Given the description of an element on the screen output the (x, y) to click on. 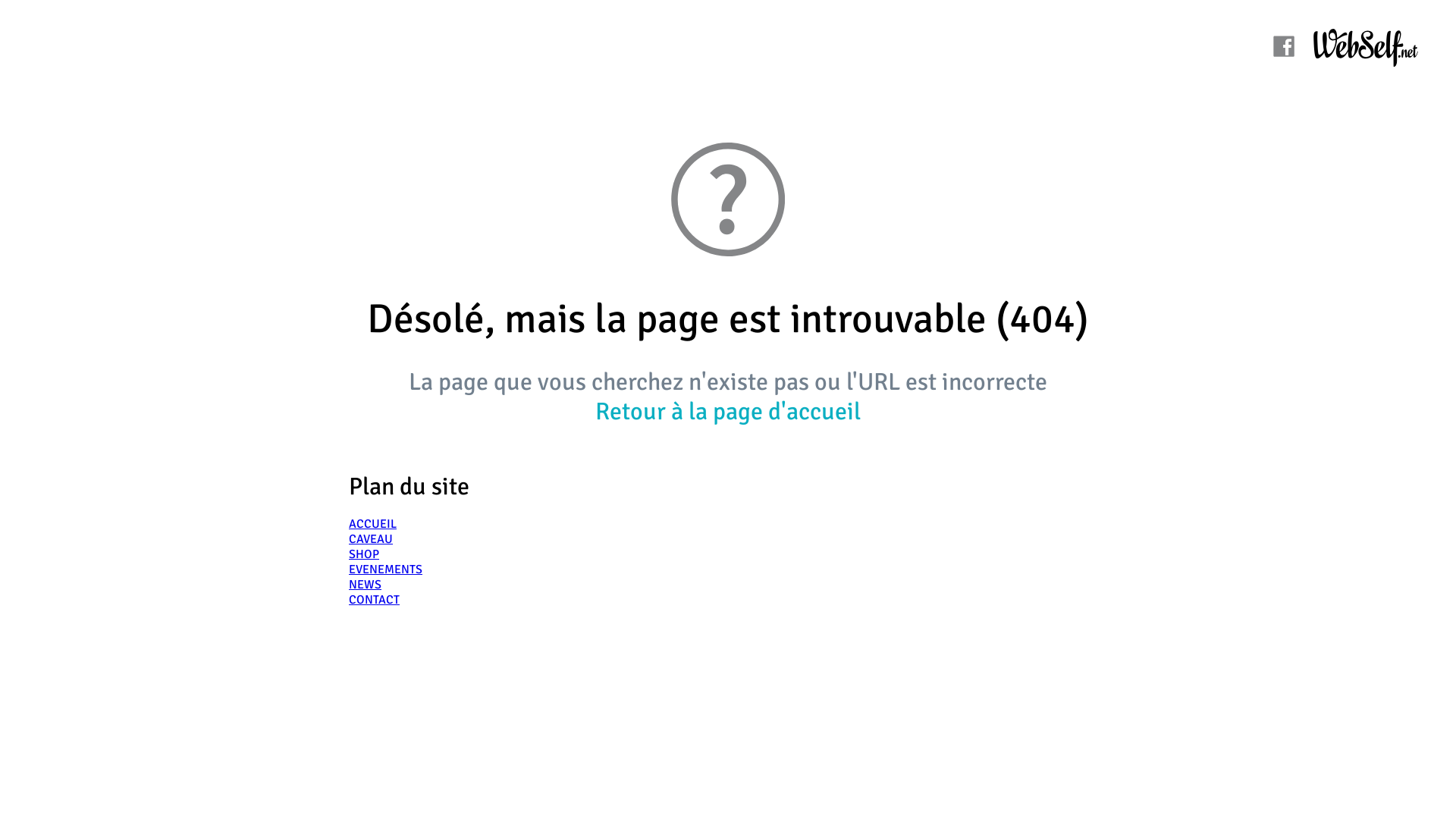
SHOP Element type: text (363, 553)
ACCUEIL Element type: text (372, 523)
EVENEMENTS Element type: text (385, 569)
CONTACT Element type: text (373, 599)
NEWS Element type: text (364, 584)
CAVEAU Element type: text (370, 538)
